Given the description of an element on the screen output the (x, y) to click on. 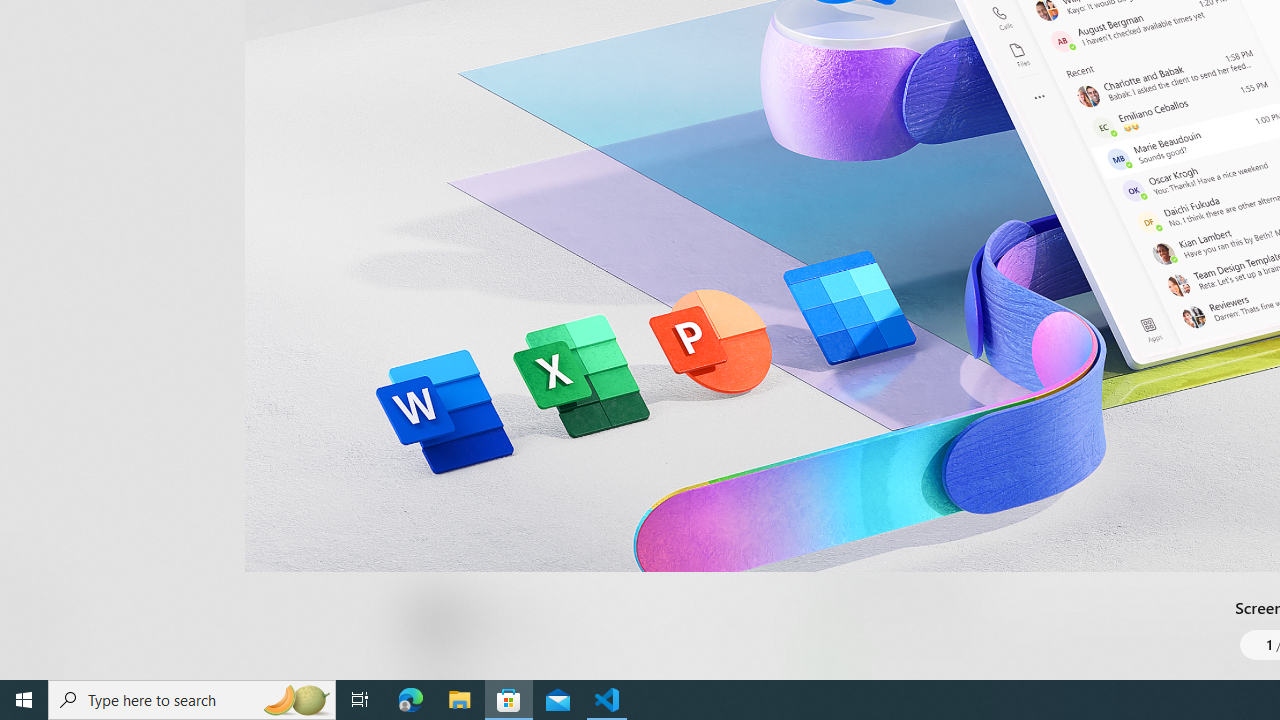
Show more (854, 674)
What's New (35, 578)
Share (746, 632)
Age rating: EVERYONE. Click for more information. (506, 619)
Show less (850, 518)
Productivity (579, 30)
Show all ratings and reviews (838, 207)
Library (35, 640)
